Given the description of an element on the screen output the (x, y) to click on. 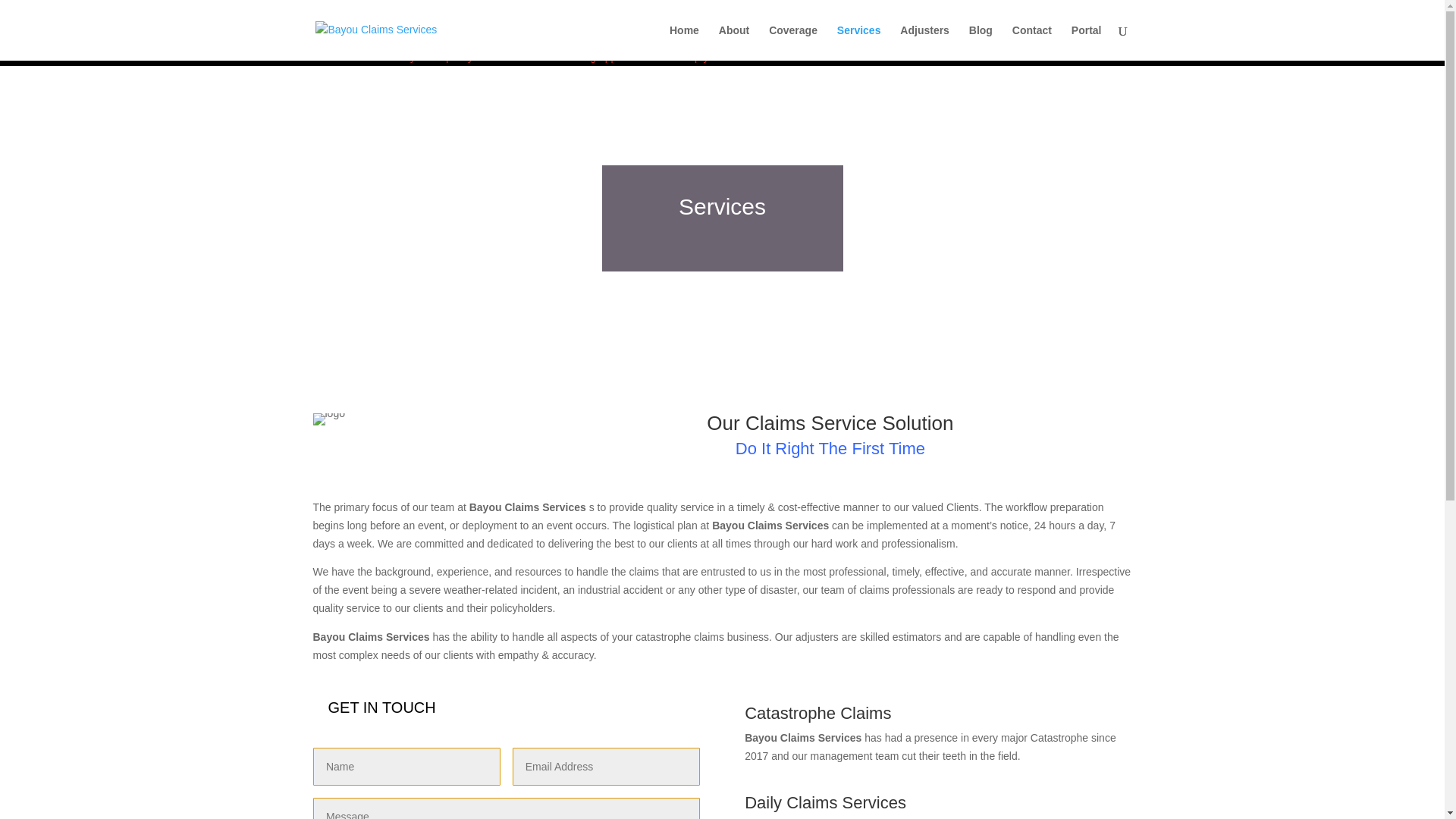
logo2 (328, 419)
Contact (1031, 42)
Services (858, 42)
Adjusters (924, 42)
Coverage (792, 42)
GET IN TOUCH (381, 707)
